Given the description of an element on the screen output the (x, y) to click on. 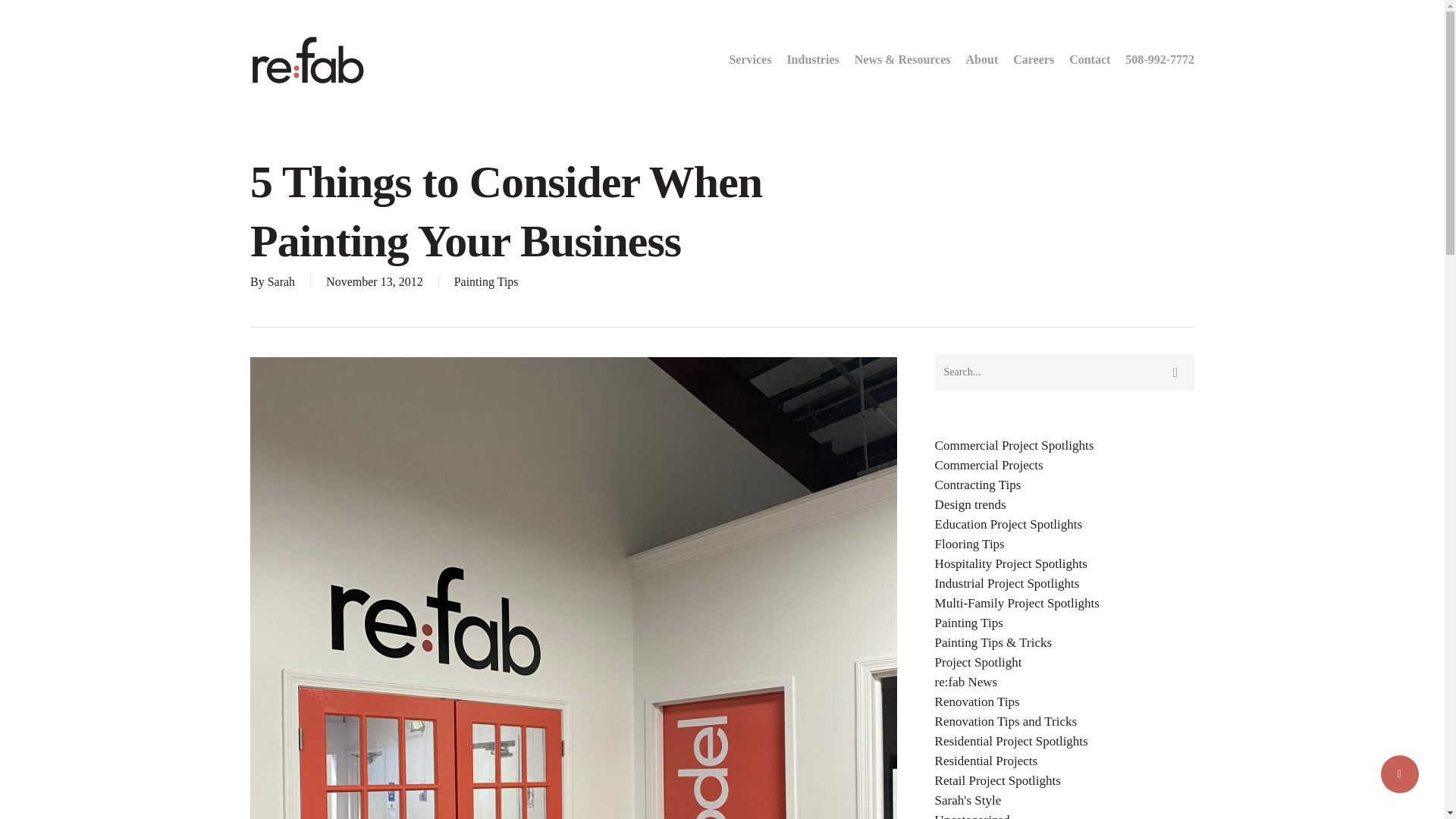
Education Project Spotlights (1063, 524)
Multi-Family Project Spotlights (1063, 603)
Renovation Tips (1063, 702)
Hospitality Project Spotlights (1063, 563)
Industrial Project Spotlights (1063, 583)
Careers (1033, 59)
Industries (811, 59)
Search for: (1063, 371)
Posts by Sarah (281, 281)
Sarah (281, 281)
